Given the description of an element on the screen output the (x, y) to click on. 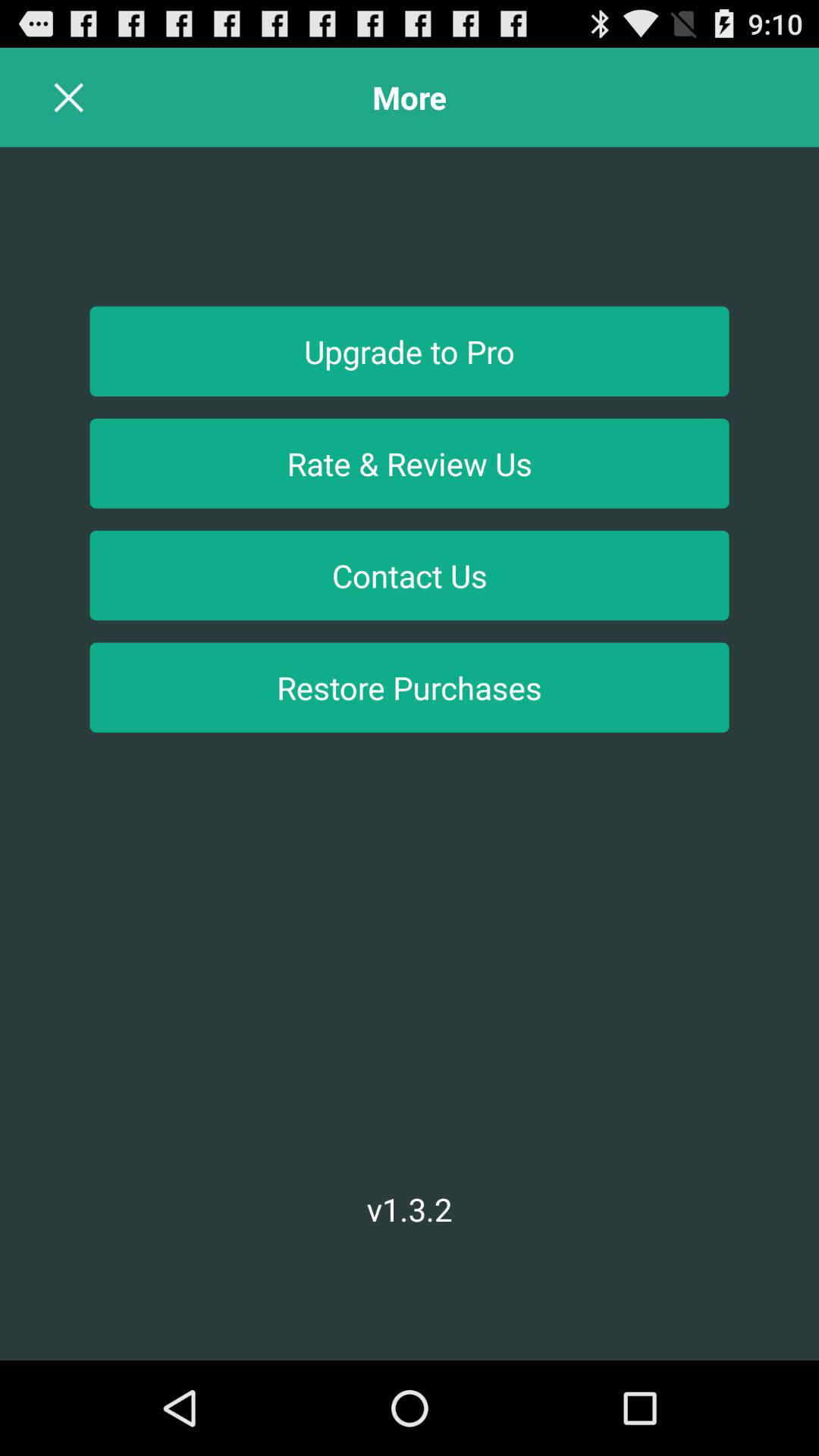
tap the rate & review us (409, 463)
